Given the description of an element on the screen output the (x, y) to click on. 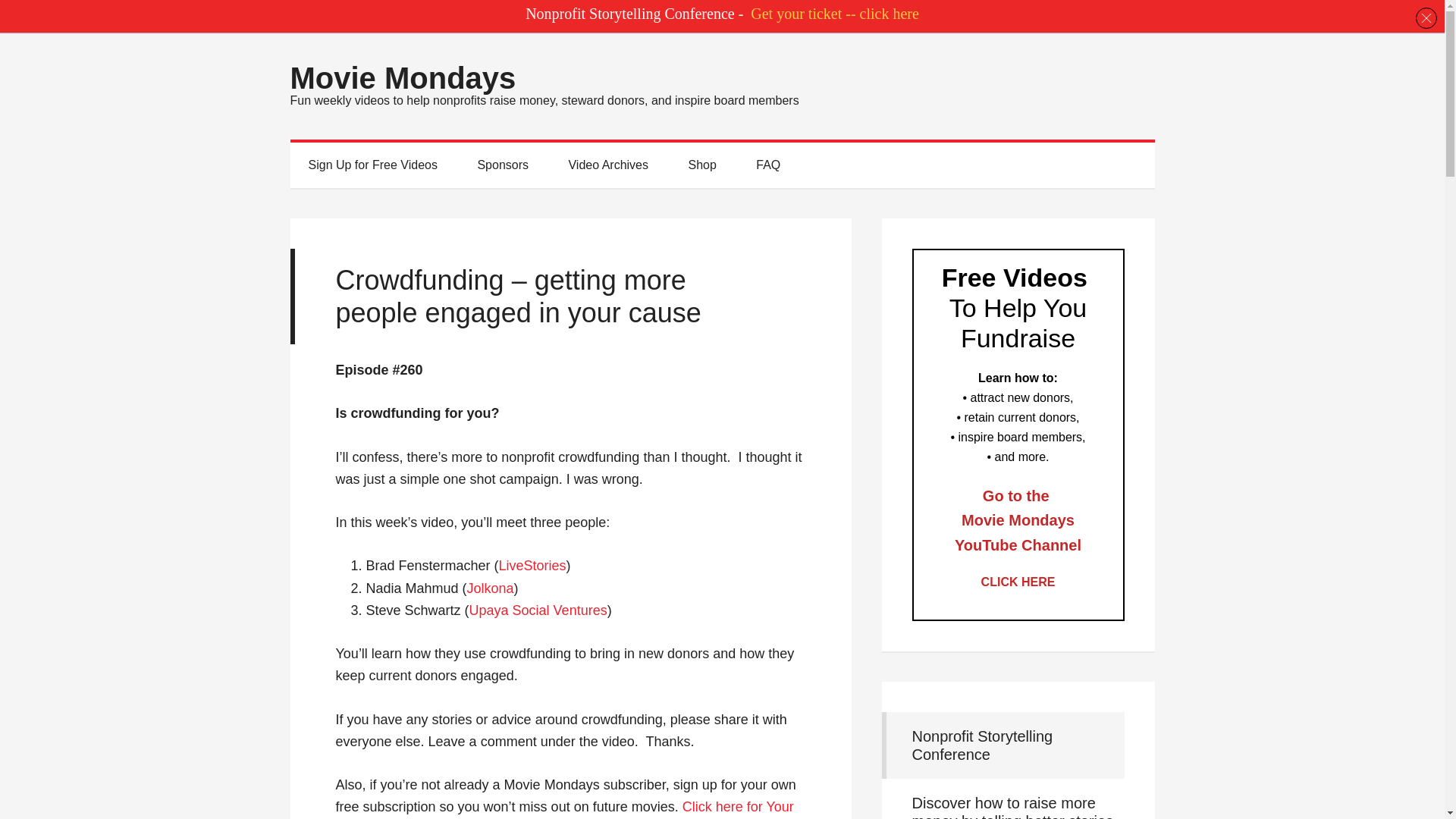
Jolkona (490, 588)
Video Archives (608, 165)
Movie Mondays (402, 78)
Sign Up for Free Videos (371, 165)
Shop (701, 165)
Upaya Social Ventures (537, 610)
Jolkona (490, 588)
Upaya Social Ventures (537, 610)
LiveStories (532, 565)
Sponsors (502, 165)
Click here for Your FREE subscription to Movie Mondays (563, 809)
FAQ (767, 165)
LiveStories (532, 565)
Sign Up for Movie Mondays (563, 809)
